Given the description of an element on the screen output the (x, y) to click on. 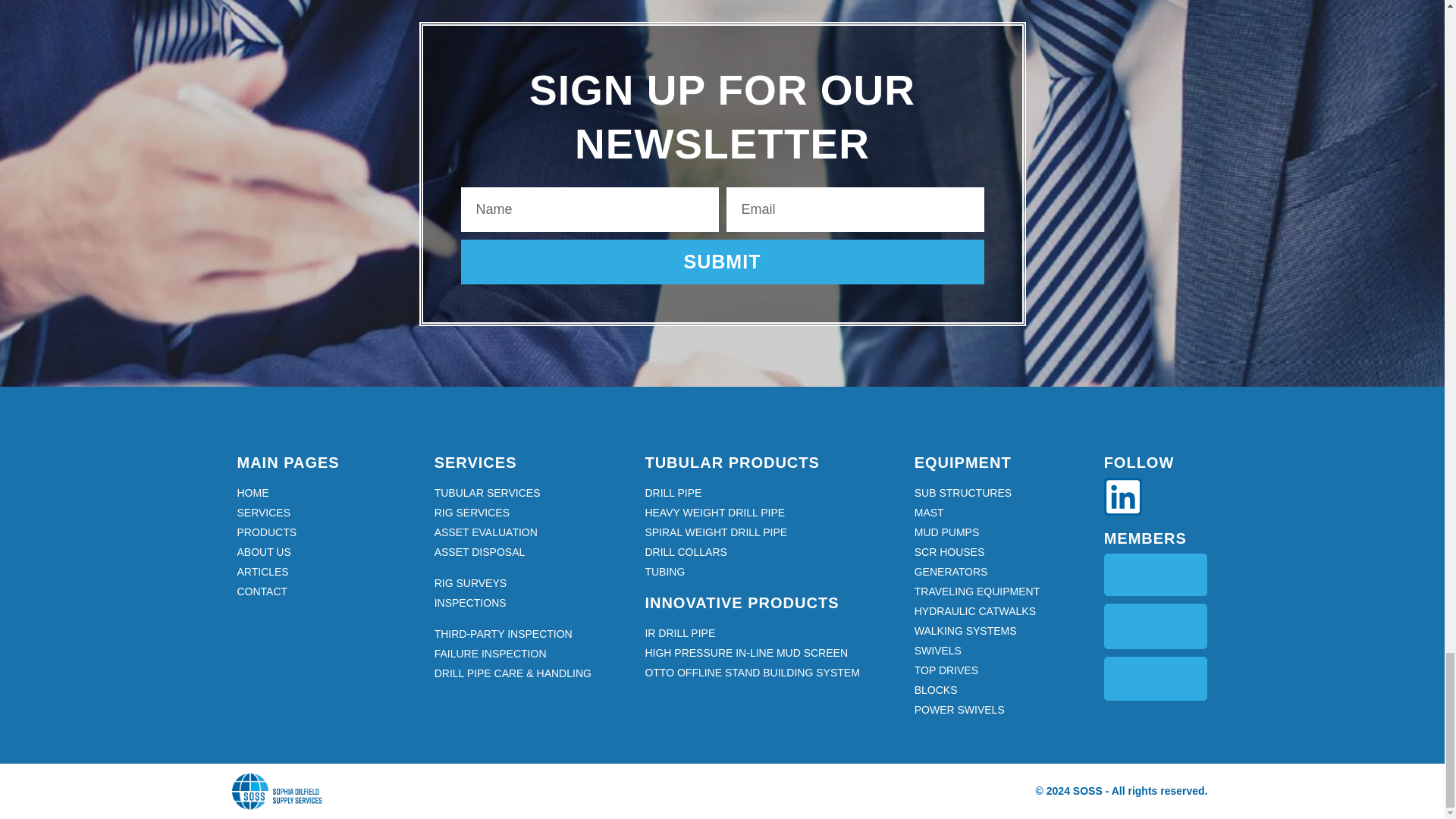
DRILL COLLARS (771, 552)
ABOUT US (327, 552)
ARTICLES (327, 571)
HOME (327, 493)
SUB STRUCTURES (1001, 493)
MAST (1001, 512)
HEAVY WEIGHT DRILL PIPE (771, 512)
SUBMIT (722, 261)
CONTACT (327, 591)
SPIRAL WEIGHT DRILL PIPE (771, 532)
